Given the description of an element on the screen output the (x, y) to click on. 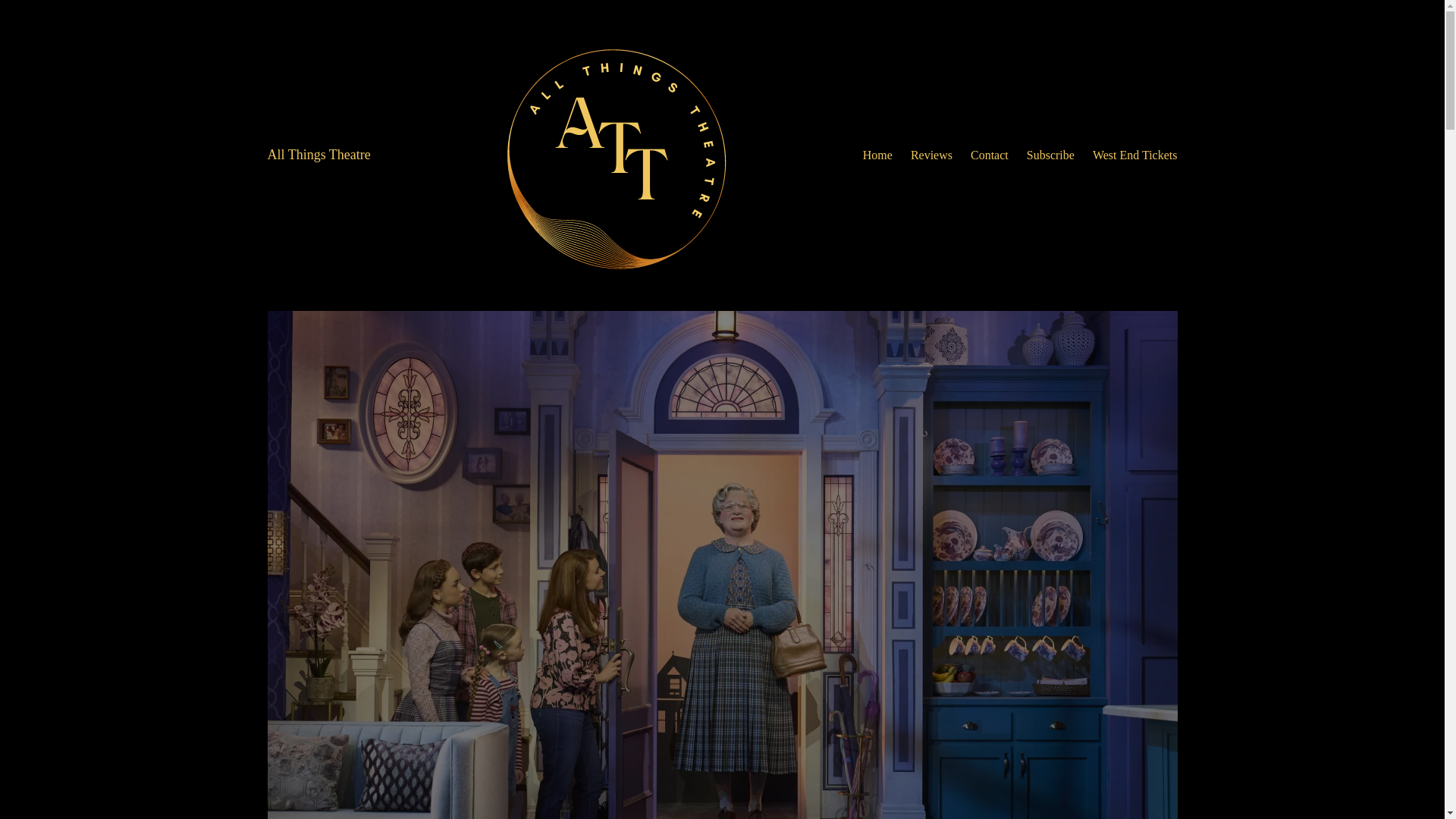
Reviews (931, 155)
Home (877, 155)
All Things Theatre (317, 154)
Subscribe (1050, 155)
Contact (990, 155)
West End Tickets (1135, 155)
